Given the description of an element on the screen output the (x, y) to click on. 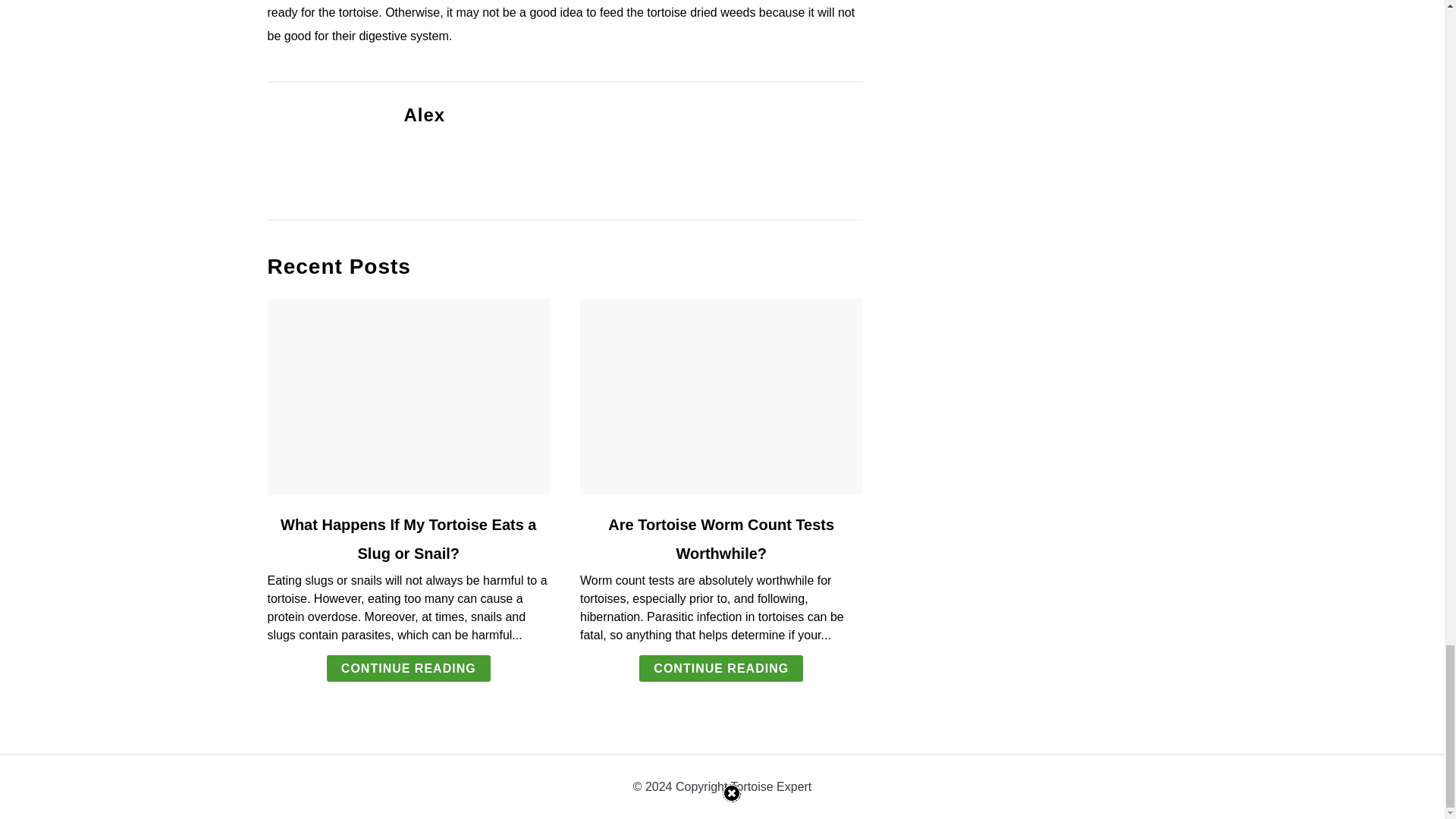
Are Tortoise Worm Count Tests Worthwhile? (721, 538)
CONTINUE READING (721, 668)
What Happens If My Tortoise Eats a Slug or Snail? (408, 538)
CONTINUE READING (408, 668)
Alex (424, 114)
link to Are Tortoise Worm Count Tests Worthwhile? (721, 396)
link to What Happens If My Tortoise Eats a Slug or Snail? (408, 396)
